Given the description of an element on the screen output the (x, y) to click on. 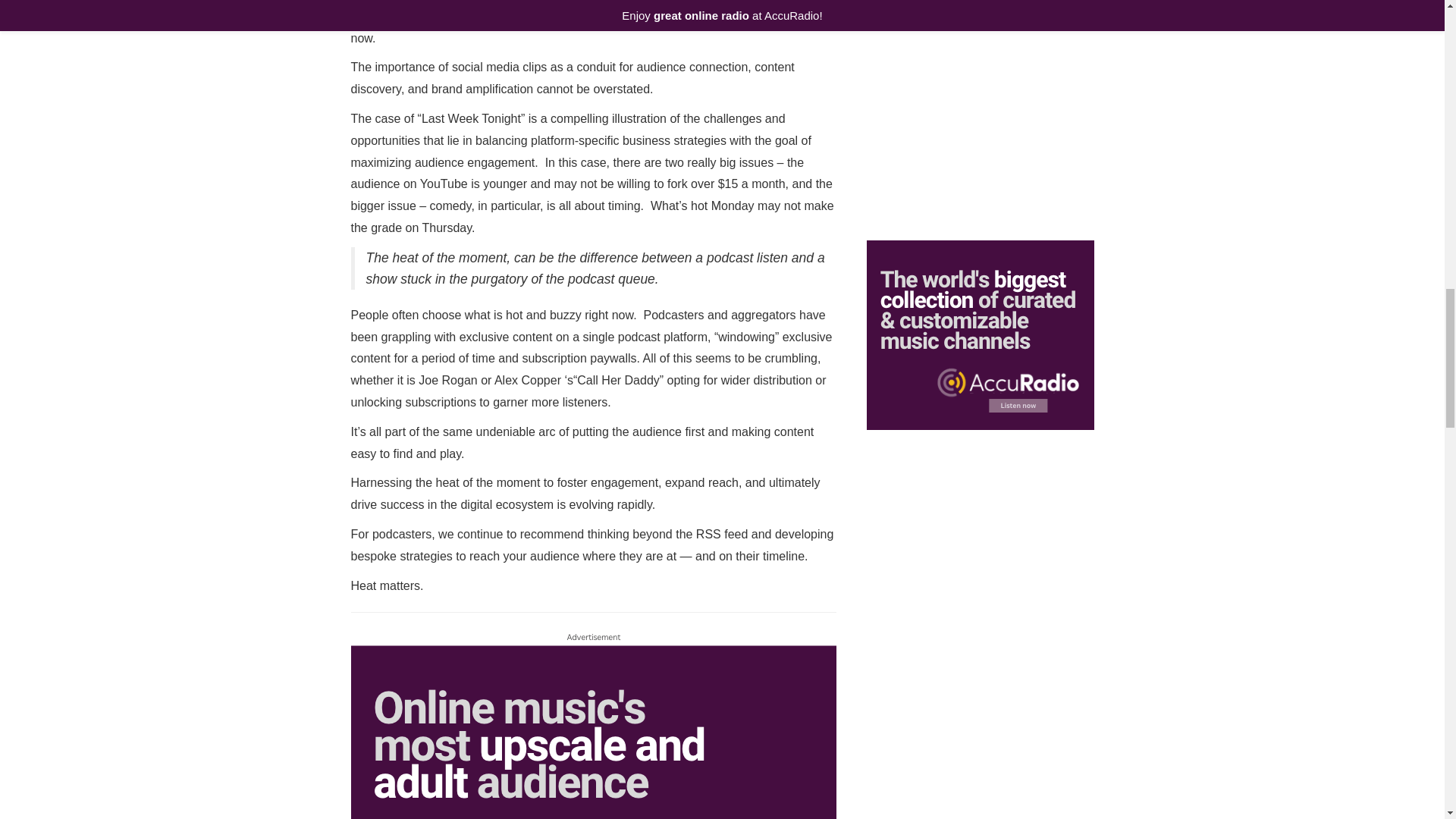
Manoush Zomorodi: S1 Ep9 (979, 787)
Daryl Battaglia S1 Ep11 (979, 105)
